Given the description of an element on the screen output the (x, y) to click on. 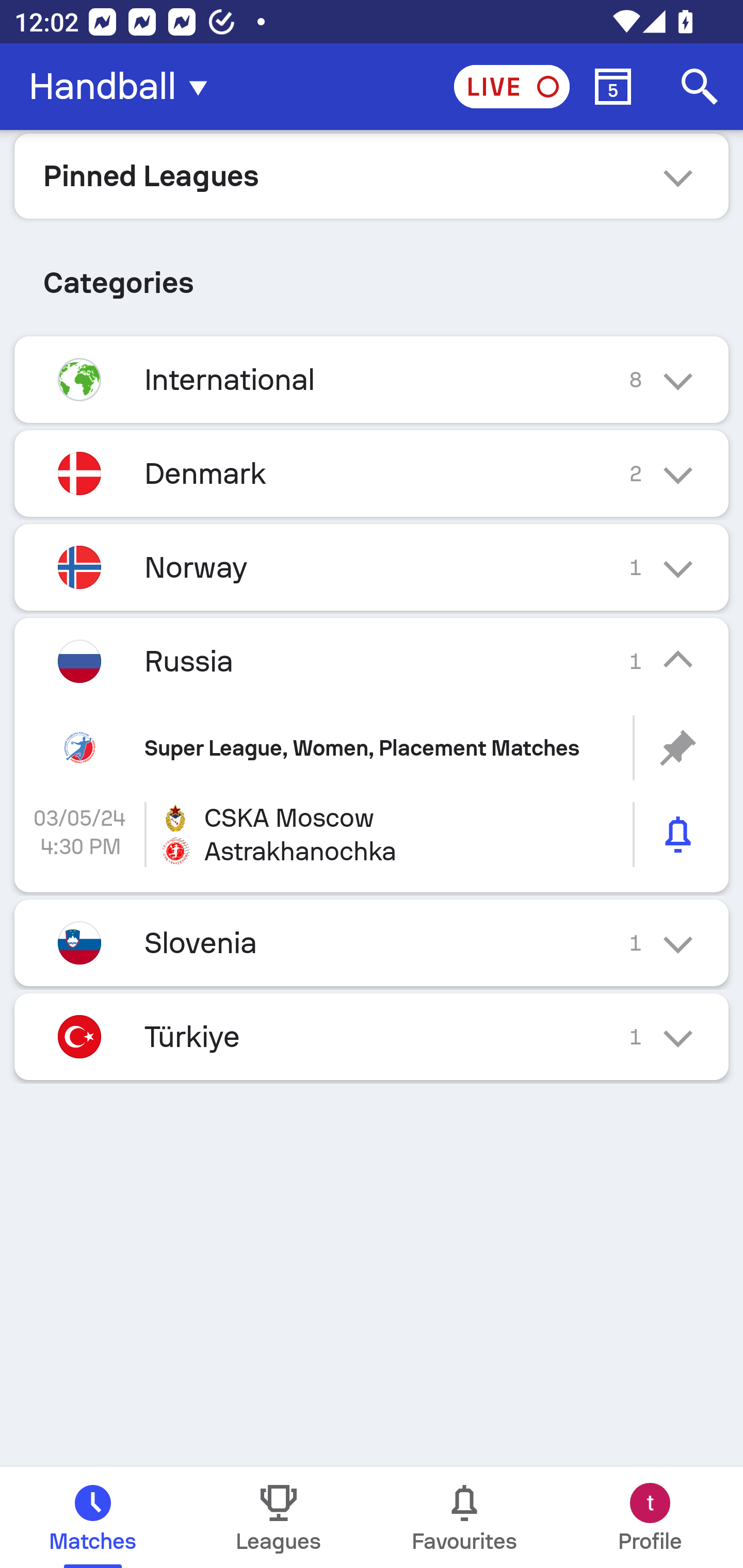
Handball (124, 86)
Calendar (612, 86)
Search (699, 86)
Pinned Leagues (371, 175)
Categories (371, 275)
International 8 (371, 379)
Denmark 2 (371, 473)
Norway 1 (371, 566)
Russia 1 (371, 660)
Super League, Women, Placement Matches (371, 747)
03/05/24 4:30 PM CSKA Moscow Astrakhanochka (371, 834)
Slovenia 1 (371, 943)
Türkiye 1 (371, 1037)
Leagues (278, 1517)
Favourites (464, 1517)
Profile (650, 1517)
